Given the description of an element on the screen output the (x, y) to click on. 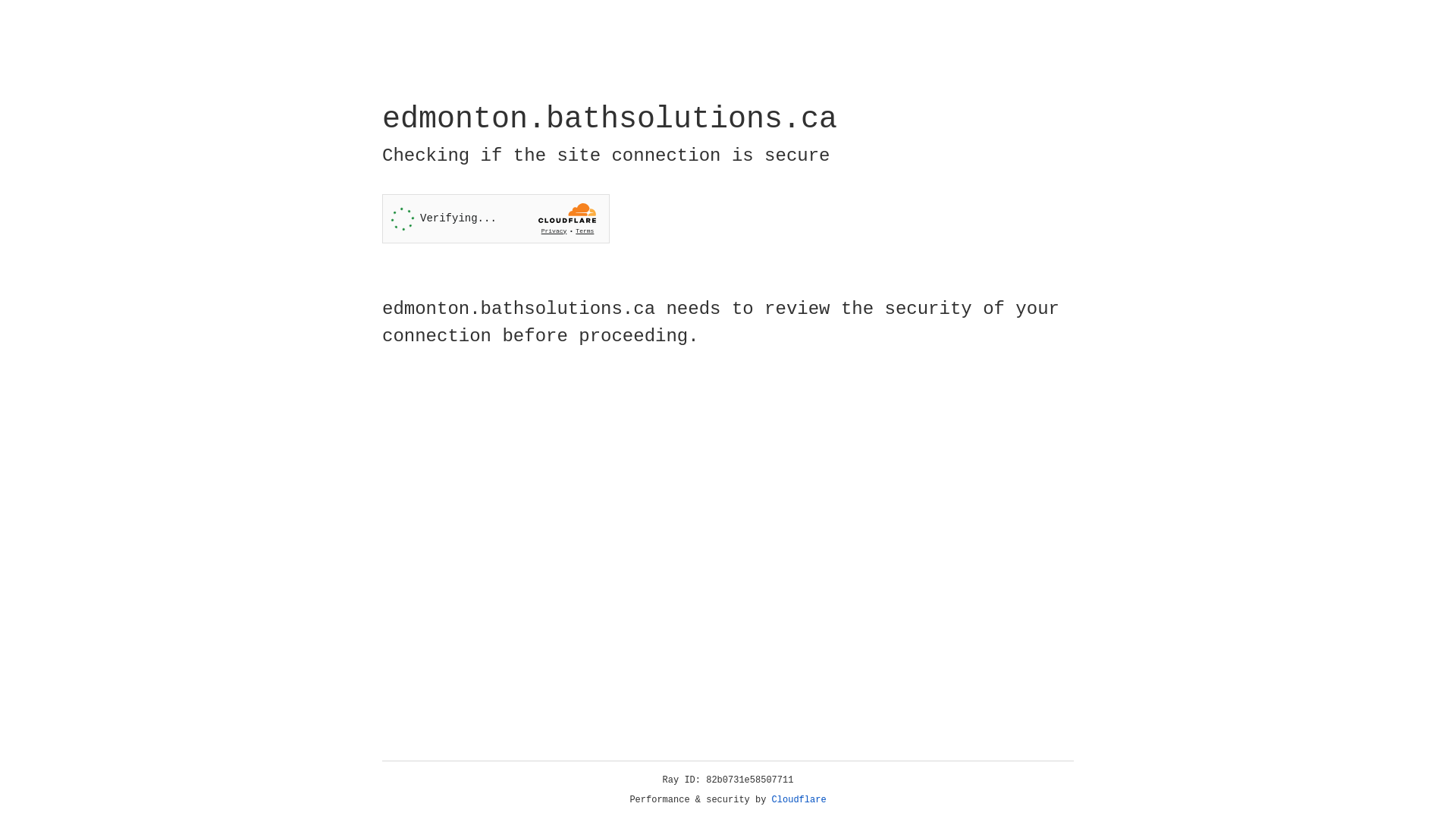
Cloudflare Element type: text (798, 799)
Widget containing a Cloudflare security challenge Element type: hover (495, 218)
